Given the description of an element on the screen output the (x, y) to click on. 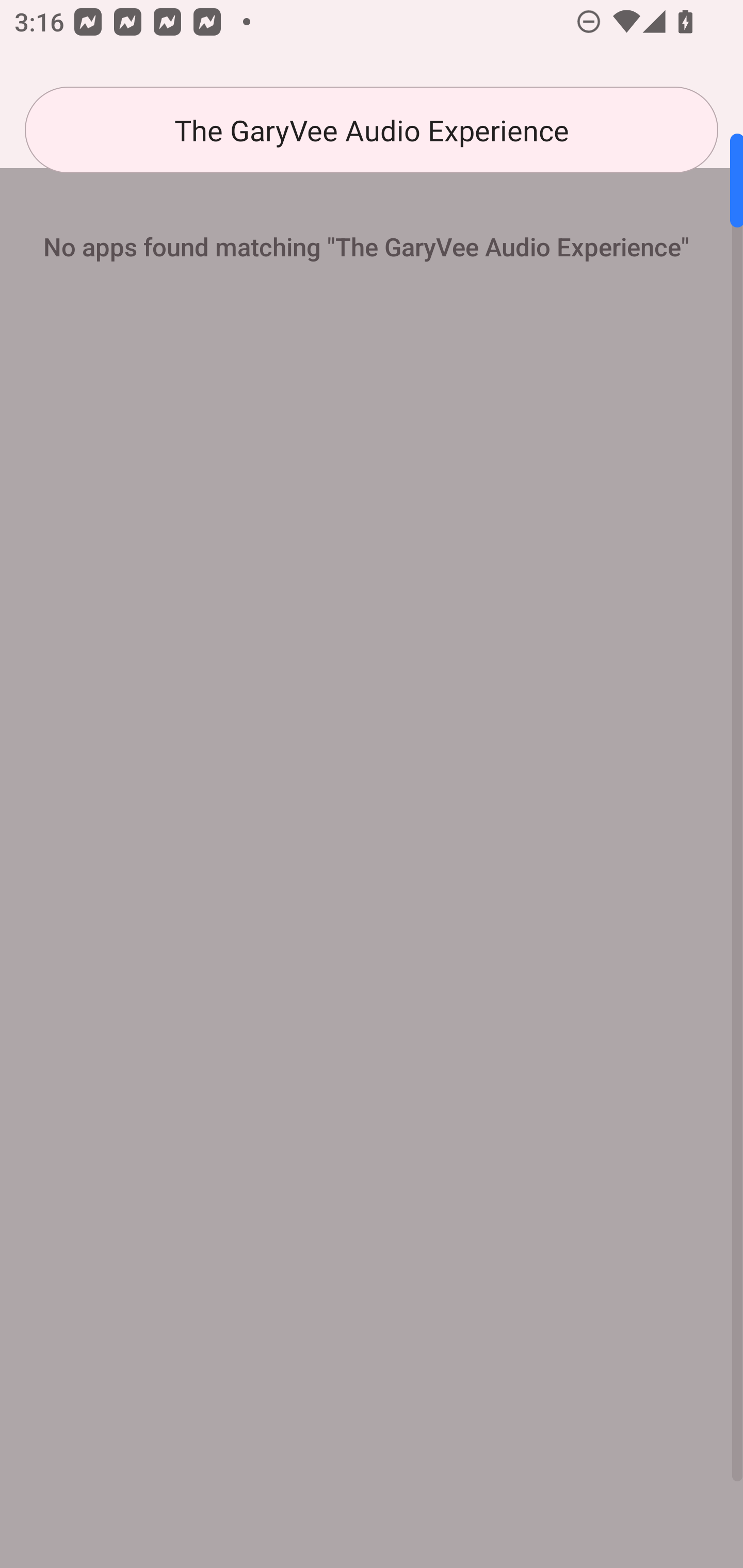
The GaryVee Audio Experience (371, 130)
